Given the description of an element on the screen output the (x, y) to click on. 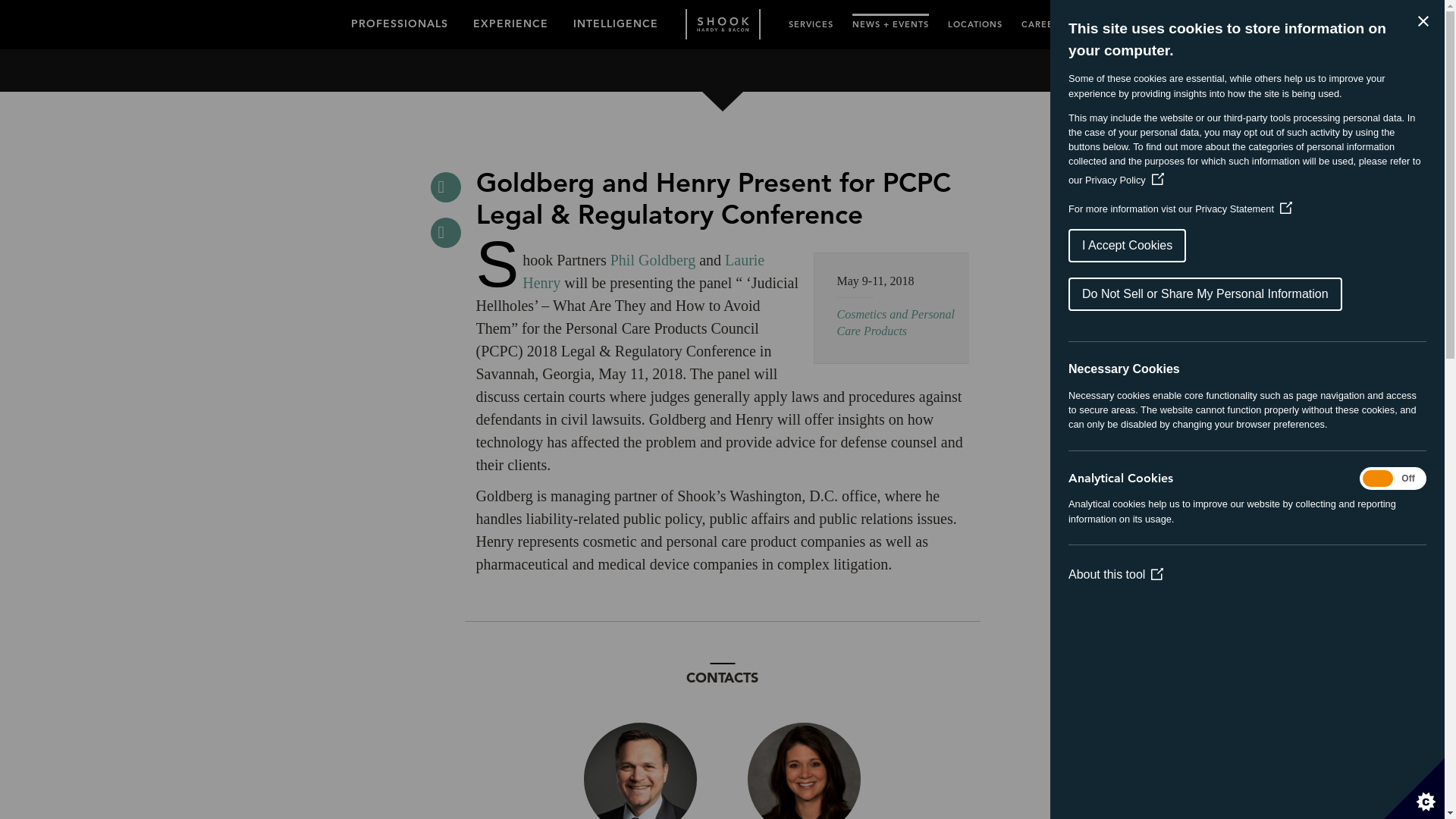
LOCATIONS (975, 21)
Phil Goldberg (652, 259)
I Accept Cookies (1190, 245)
CAREERS (1042, 21)
EXPERIENCE (510, 20)
SERVICES (810, 21)
INTELLIGENCE (615, 20)
Do Not Sell or Share My Personal Information (1234, 294)
Laurie Henry (643, 271)
Laurie A. Henry (803, 770)
